Given the description of an element on the screen output the (x, y) to click on. 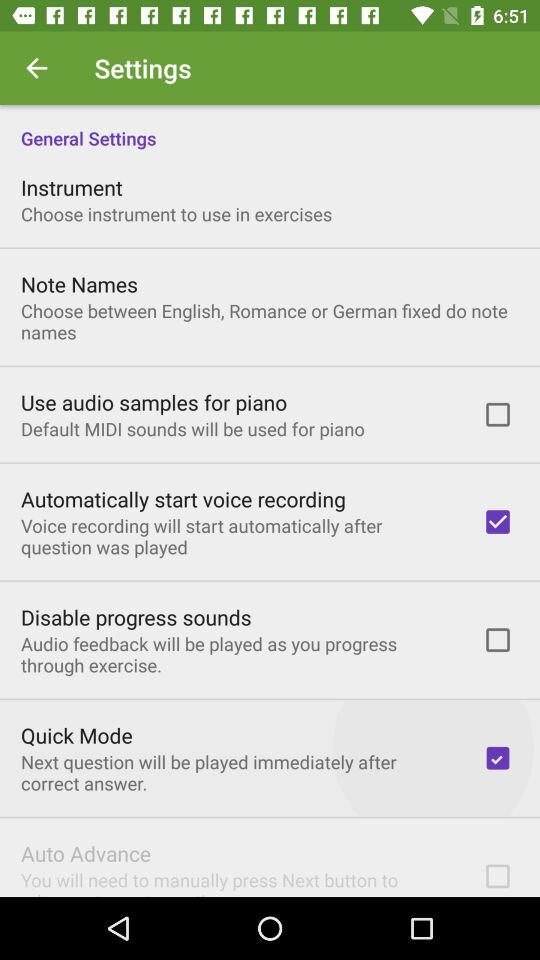
turn off the icon below the disable progress sounds icon (238, 654)
